Given the description of an element on the screen output the (x, y) to click on. 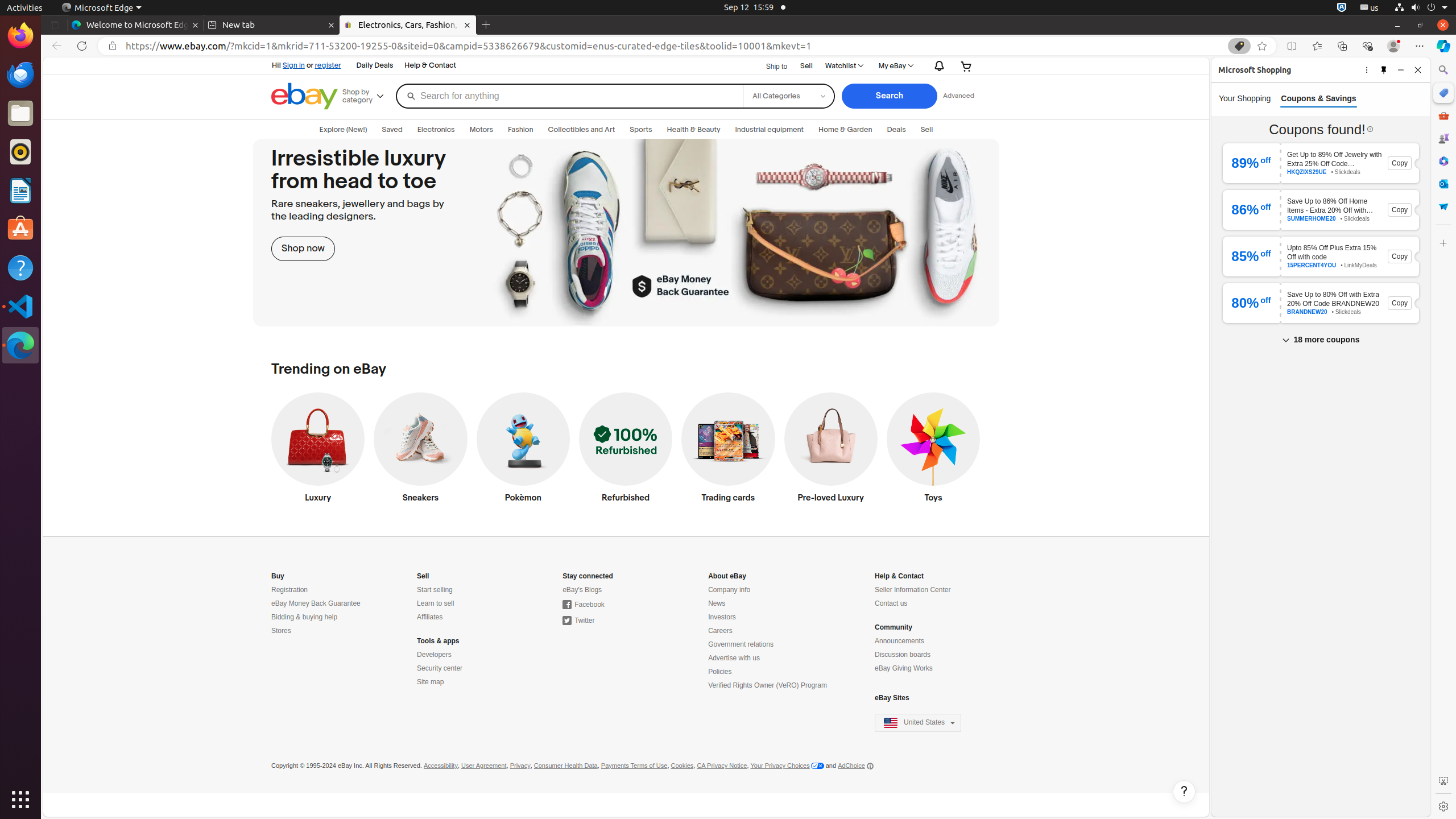
Copilot (Ctrl+Shift+.) Element type: push-button (1443, 45)
Show Applications Element type: toggle-button (20, 799)
Motors Element type: link (481, 129)
Cookies Element type: link (681, 765)
Microsoft Edge Element type: menu (101, 7)
